Given the description of an element on the screen output the (x, y) to click on. 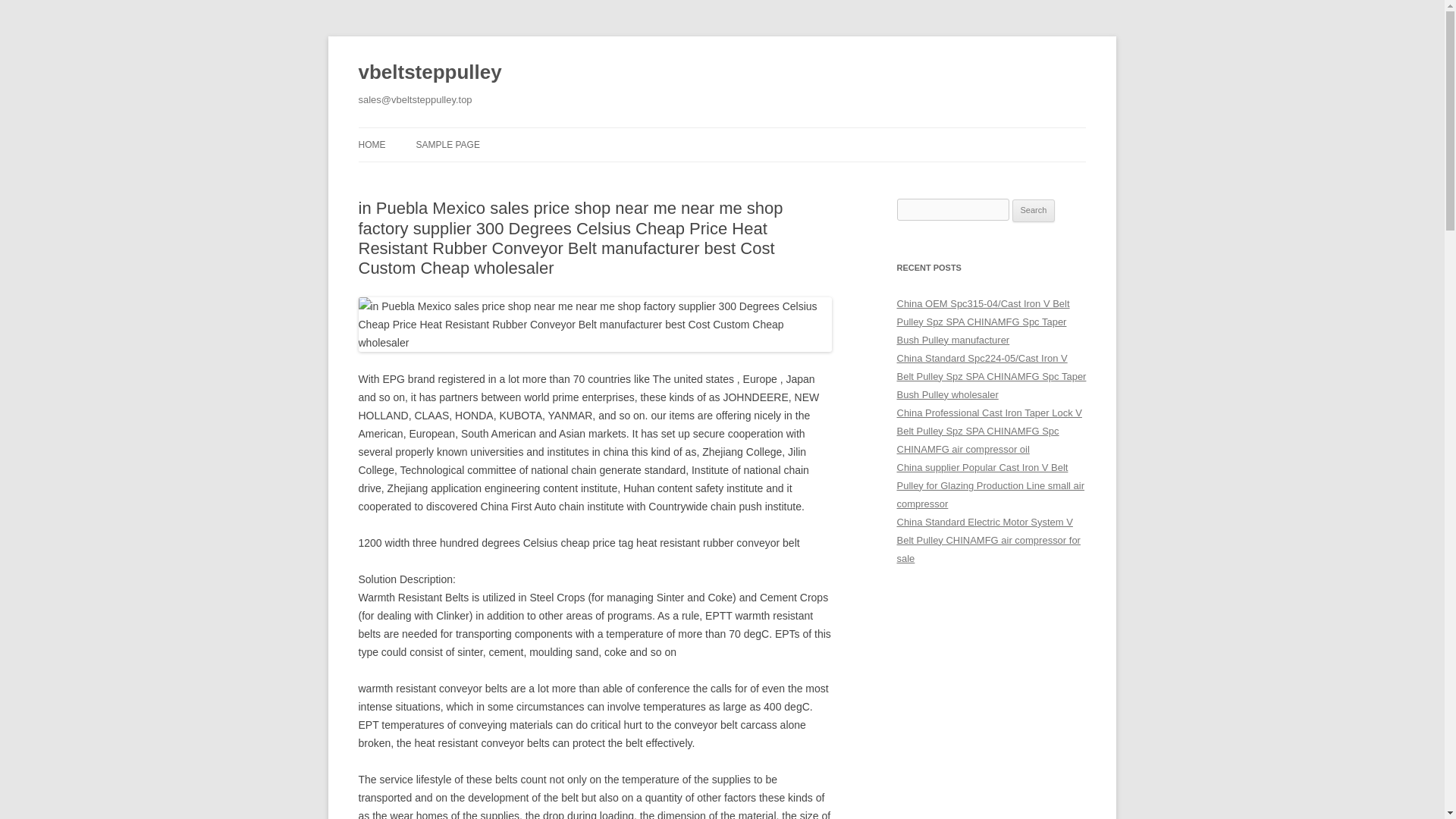
HOME (371, 144)
vbeltsteppulley (429, 72)
vbeltsteppulley (429, 72)
Search (1033, 210)
Search (1033, 210)
SAMPLE PAGE (446, 144)
